Given the description of an element on the screen output the (x, y) to click on. 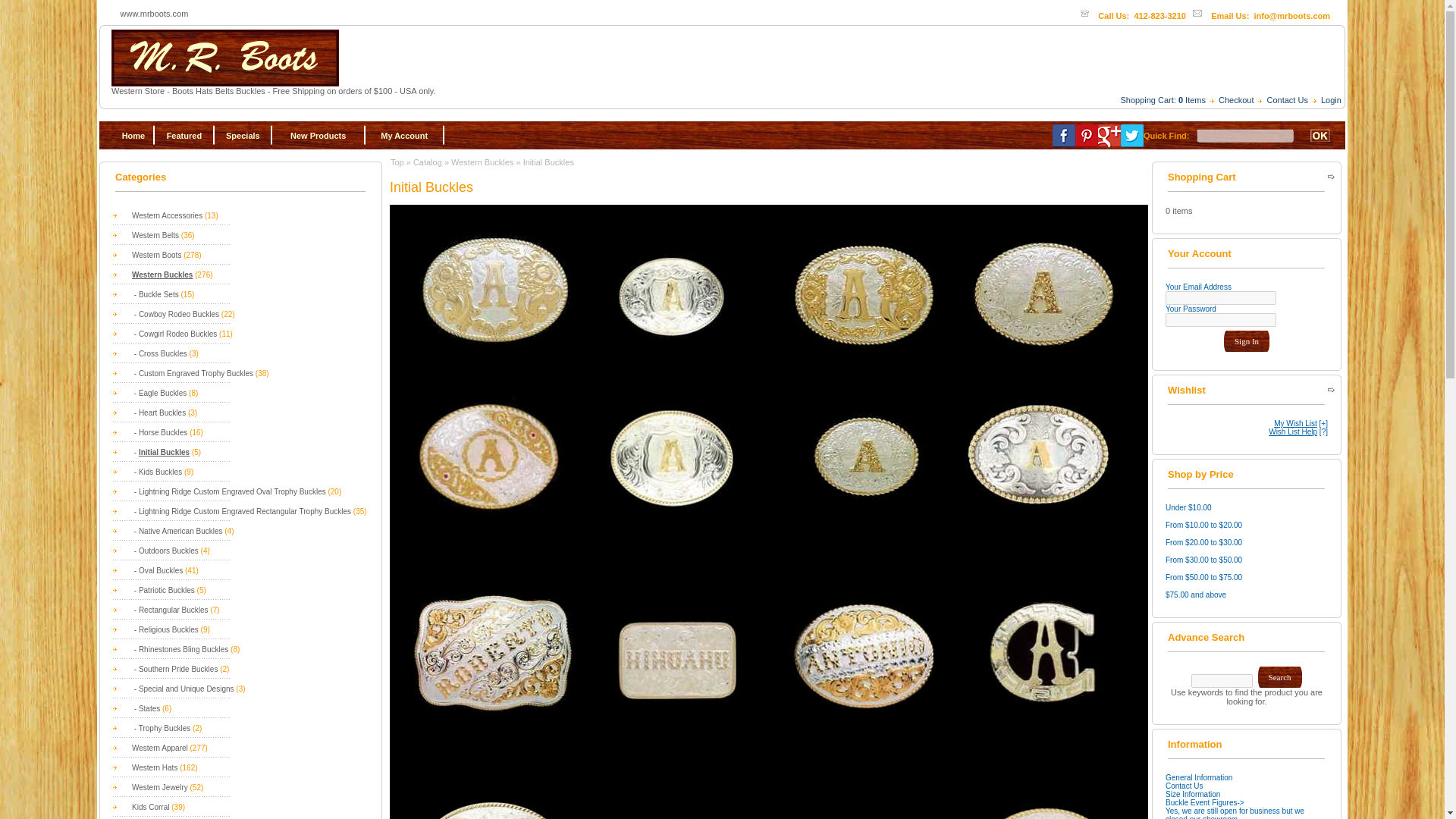
Oval Buckles (160, 570)
New Products (317, 134)
Heart Buckles (162, 412)
Lightning Ridge Custom Engraved Rectangular Trophy Buckles (244, 510)
Find M.R. Boots Western Store on Twitter (1131, 135)
Find M.R. Boots Western Store on Facebook (1063, 135)
Buckle Sets (158, 294)
Western Buckles (162, 275)
Custom Engraved Trophy Buckles (195, 373)
Cowgirl Rodeo Buckles (177, 334)
Cowboy Rodeo Buckles (178, 314)
Cross Buckles (162, 353)
Native American Buckles (180, 531)
Western Belts (155, 234)
Find M.R. Boots Western Store on Pinterest (1086, 135)
